Given the description of an element on the screen output the (x, y) to click on. 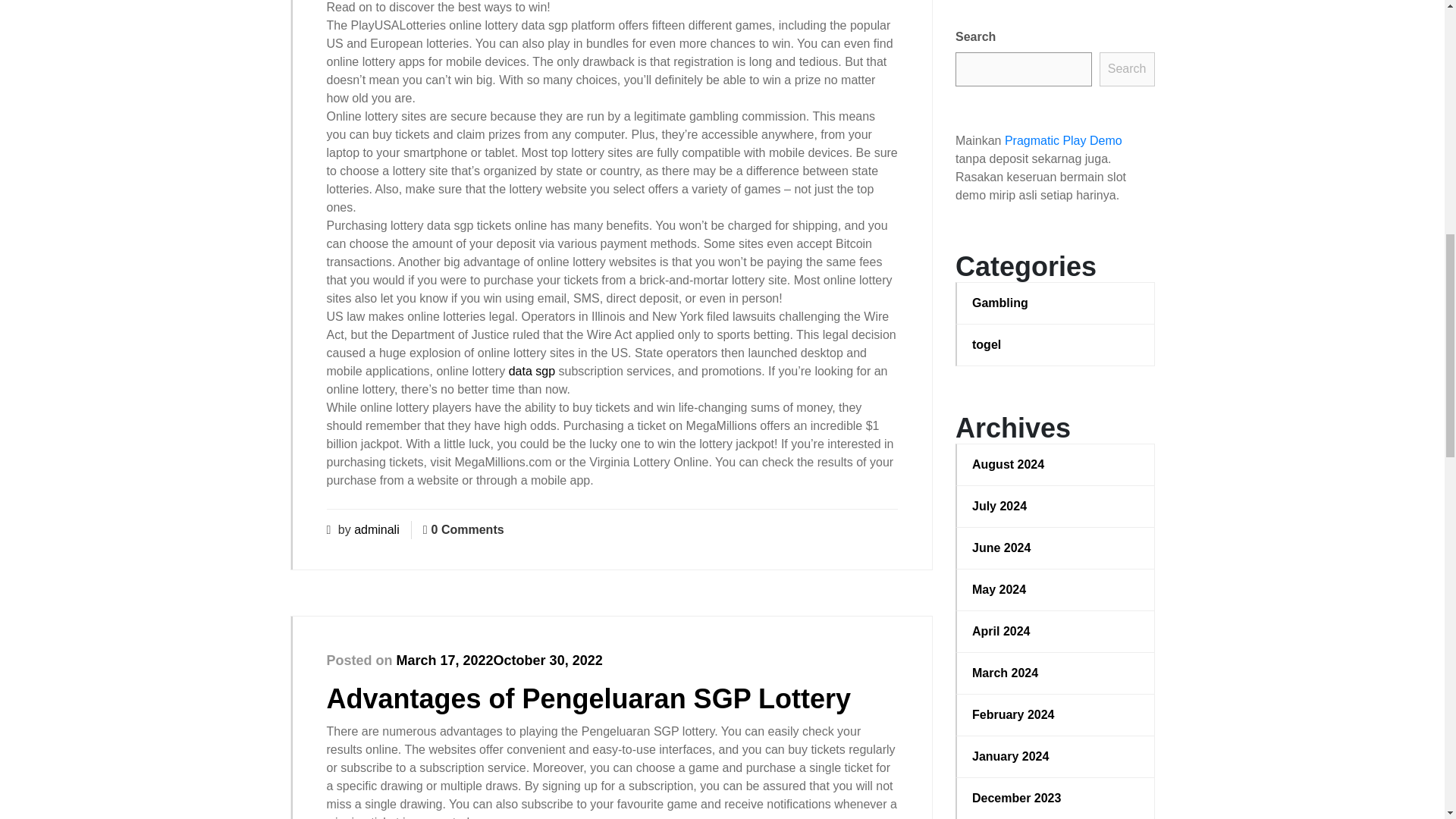
December 2023 (1055, 798)
February 2024 (1055, 714)
June 2024 (1055, 547)
Gambling (1055, 303)
April 2024 (1055, 631)
togel (1055, 344)
July 2024 (1055, 506)
March 2024 (1055, 673)
data sgp (531, 370)
May 2024 (1055, 589)
